Given the description of an element on the screen output the (x, y) to click on. 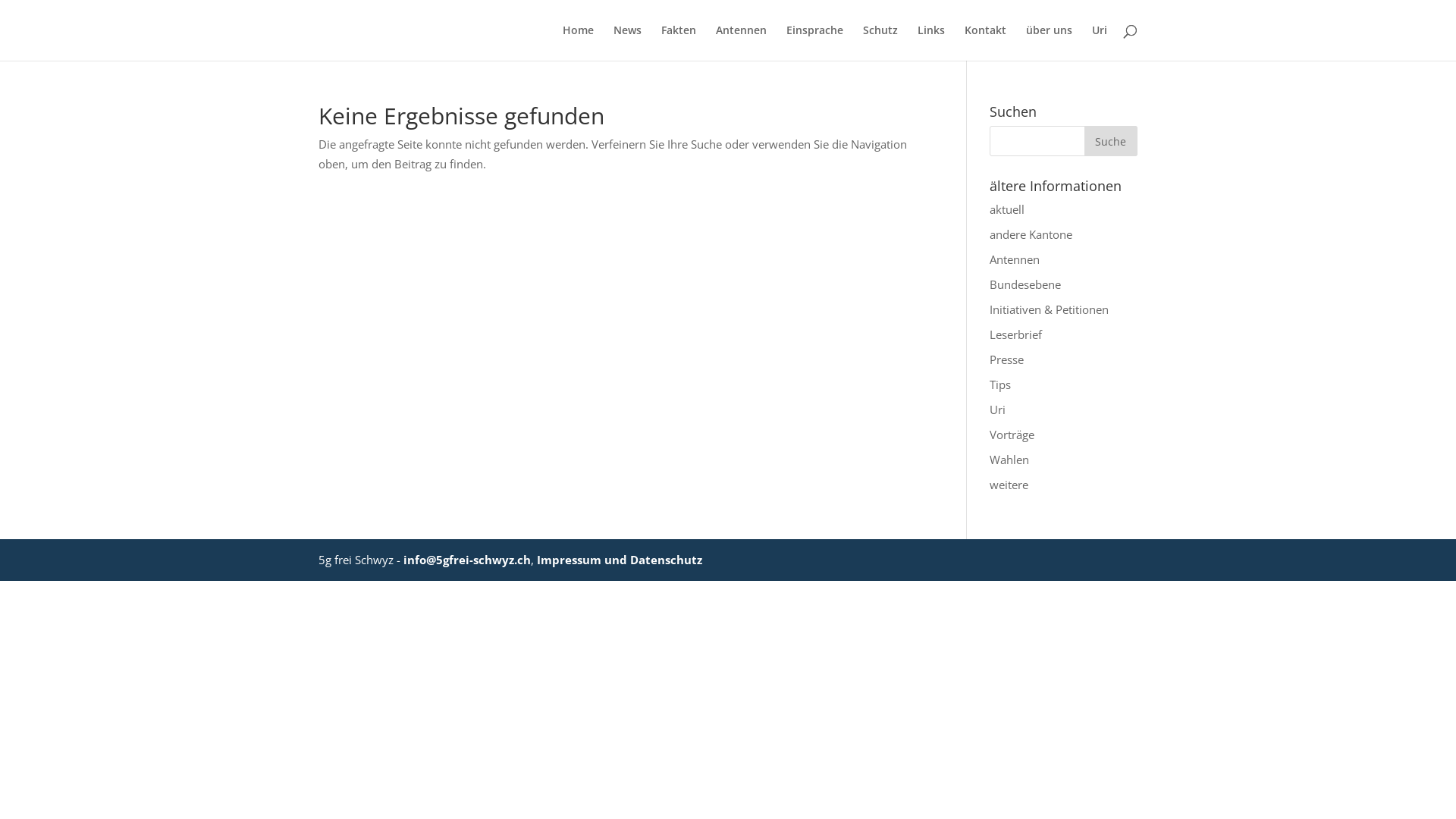
Leserbrief Element type: text (1015, 334)
News Element type: text (627, 42)
Kontakt Element type: text (985, 42)
Fakten Element type: text (678, 42)
Wahlen Element type: text (1009, 459)
Impressum und Datenschutz Element type: text (619, 559)
Home Element type: text (577, 42)
Antennen Element type: text (1014, 258)
Bundesebene Element type: text (1024, 283)
Links Element type: text (930, 42)
info@5gfrei-schwyz.ch Element type: text (466, 559)
Presse Element type: text (1006, 359)
Einsprache Element type: text (814, 42)
aktuell Element type: text (1006, 208)
weitere Element type: text (1008, 484)
Uri Element type: text (997, 409)
Antennen Element type: text (740, 42)
Tips Element type: text (999, 384)
Initiativen & Petitionen Element type: text (1048, 308)
Suche Element type: text (1110, 140)
Schutz Element type: text (879, 42)
Uri Element type: text (1099, 42)
andere Kantone Element type: text (1030, 233)
